Given the description of an element on the screen output the (x, y) to click on. 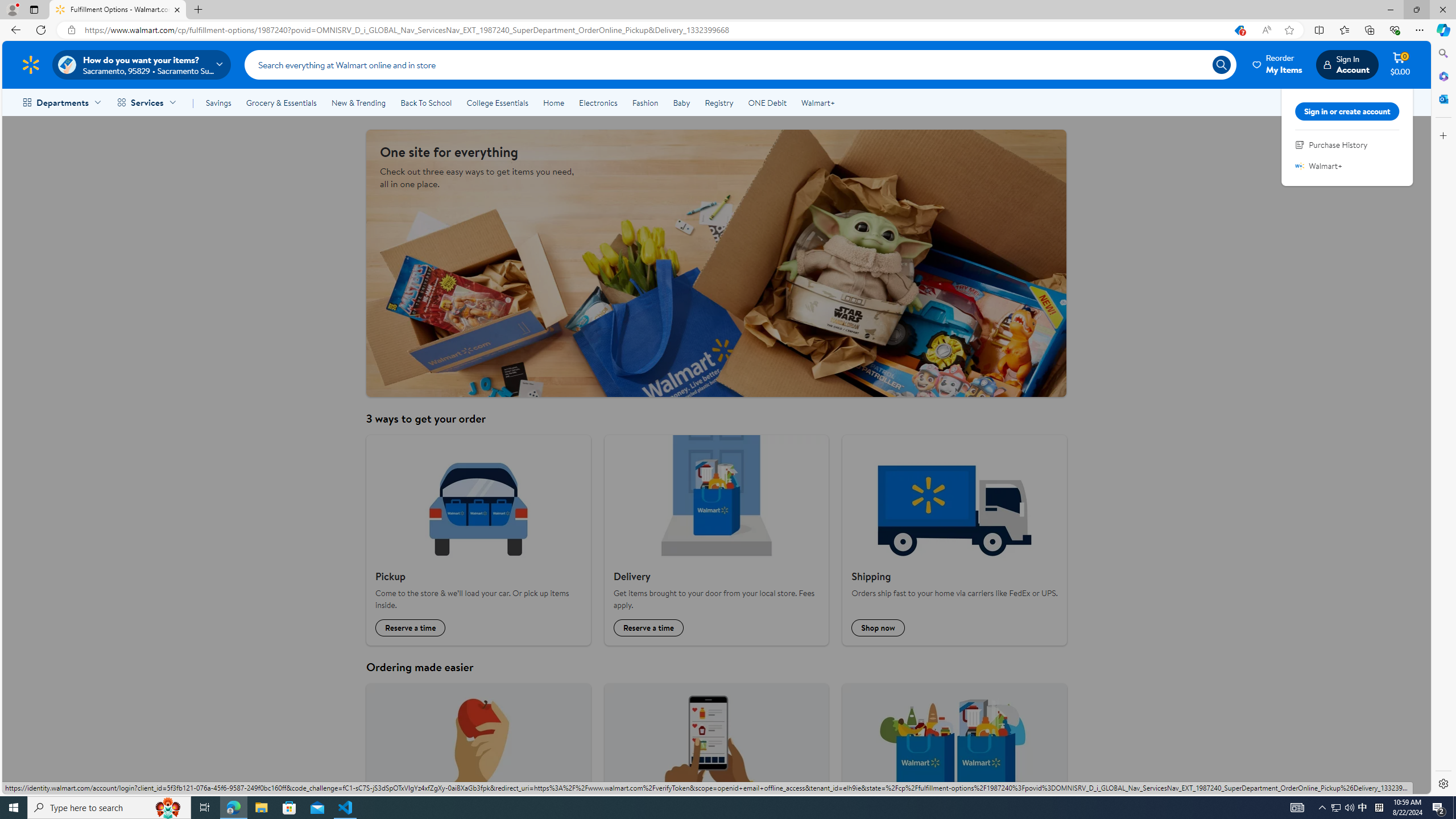
Fashion (644, 102)
Electronics (598, 102)
Sign in or create account (1346, 111)
College Essentials (496, 102)
Electronics (598, 102)
This site has coupons! Shopping in Microsoft Edge, 7 (1239, 29)
New & Trending (358, 102)
Walmart+ (817, 102)
